Given the description of an element on the screen output the (x, y) to click on. 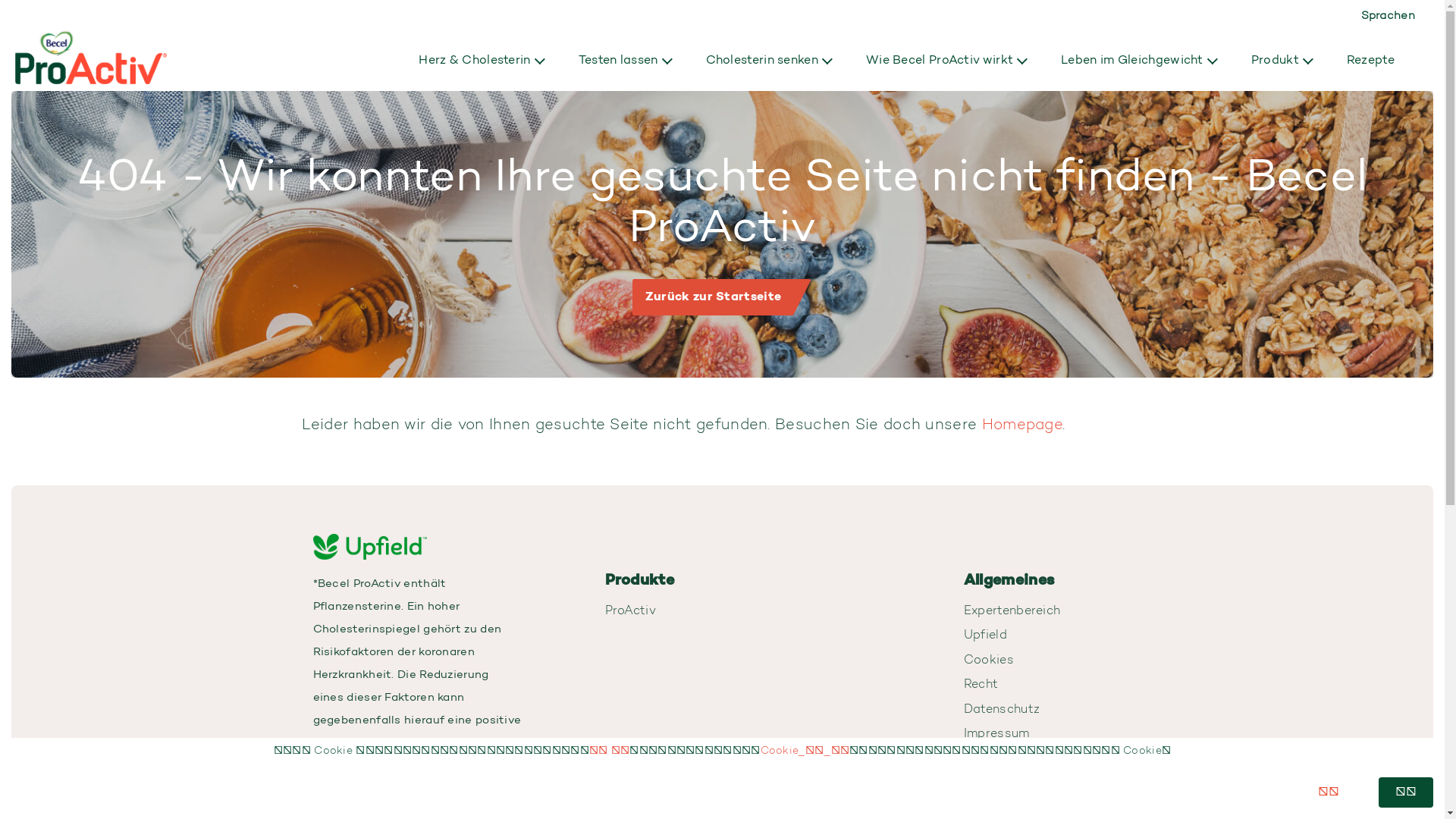
Datenschutz Element type: text (1001, 709)
Recht Element type: text (980, 684)
Wie Becel ProActiv wirkt Element type: text (939, 60)
Logo Footer Element type: hover (369, 542)
Rezepte Element type: text (1370, 60)
Cookies Element type: text (988, 660)
Homepage Element type: text (1022, 425)
Expertenbereich Element type: text (1011, 611)
Produkt Element type: text (1275, 60)
Impressum Element type: text (996, 734)
Kontakt Element type: text (987, 759)
ProActiv Element type: text (630, 611)
Testen lassen Element type: text (618, 60)
Logo Black Element type: hover (90, 41)
Sprachen Element type: text (1388, 15)
Leben im Gleichgewicht Element type: text (1131, 60)
Cholesterin senken Element type: text (762, 60)
Herz & Cholesterin Element type: text (474, 60)
Upfield Element type: text (985, 635)
